Given the description of an element on the screen output the (x, y) to click on. 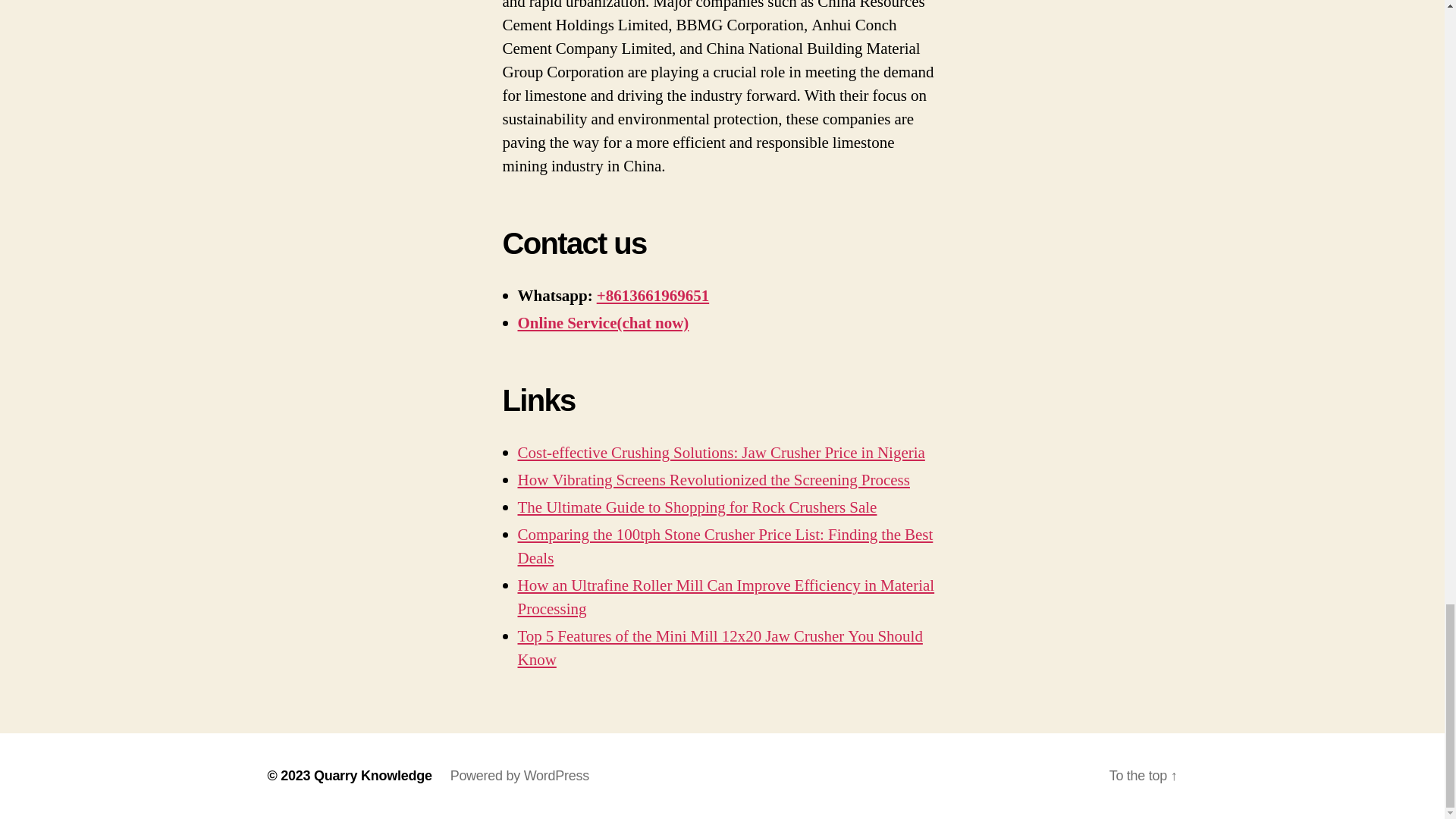
The Ultimate Guide to Shopping for Rock Crushers Sale (696, 507)
Powered by WordPress (519, 775)
How Vibrating Screens Revolutionized the Screening Process (712, 480)
Quarry Knowledge (373, 775)
